Given the description of an element on the screen output the (x, y) to click on. 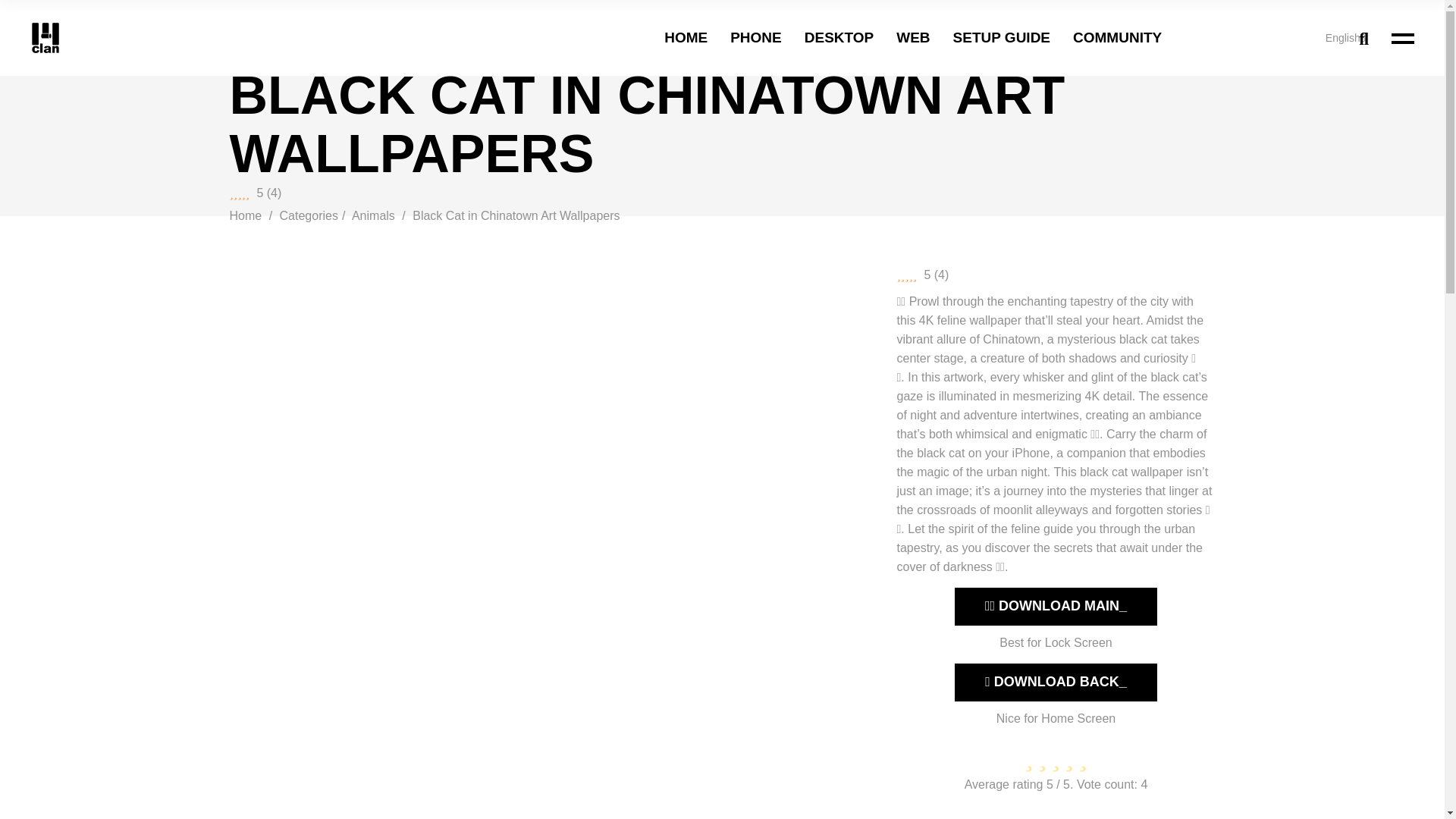
DESKTOP (840, 38)
English (1260, 37)
SETUP GUIDE (1001, 38)
COMMUNITY (1117, 38)
